Given the description of an element on the screen output the (x, y) to click on. 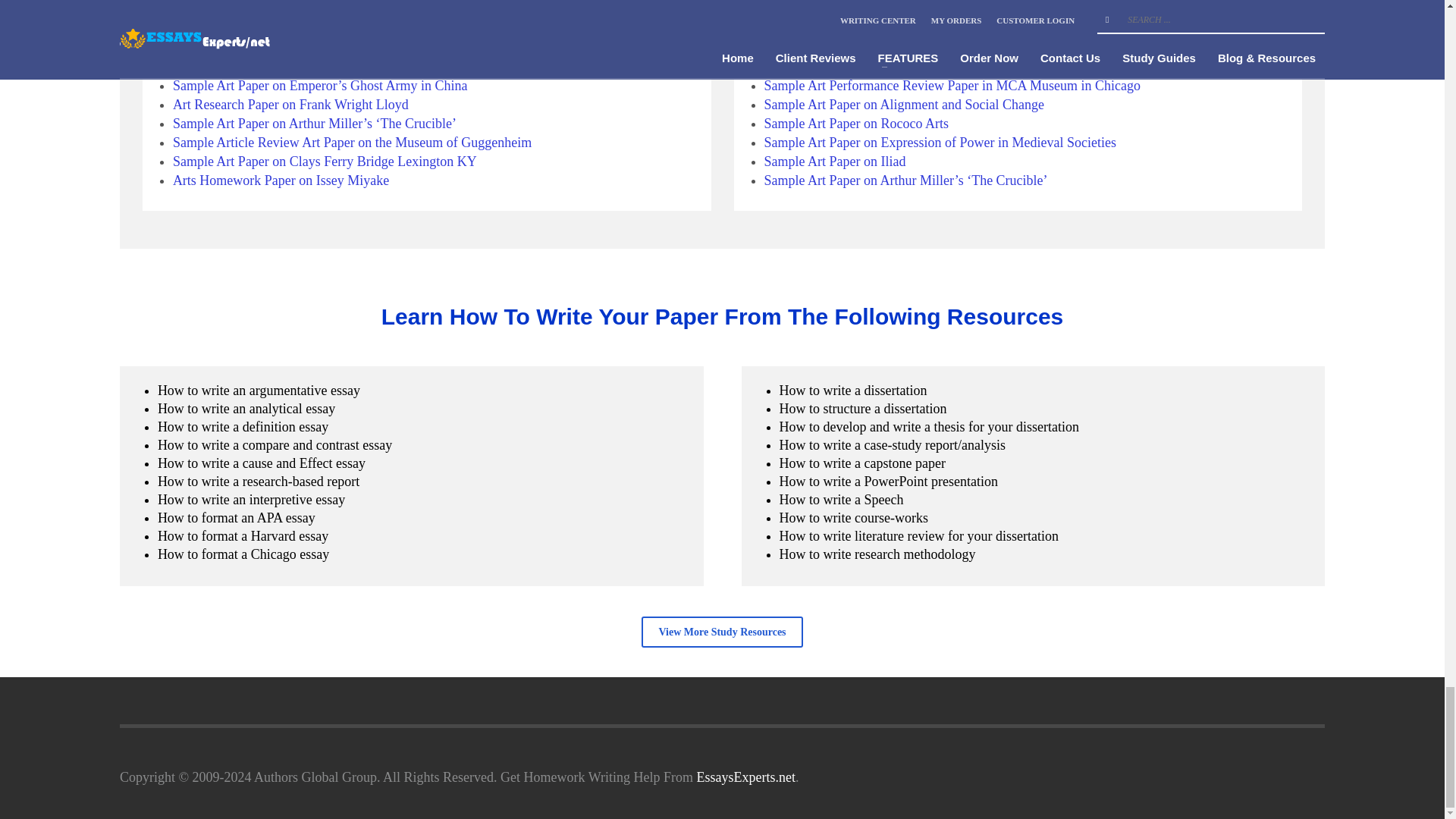
Arts Homework Paper on Issey Miyake (280, 180)
Sample Art Paper on Violence in Media (281, 9)
Art Research Paper on Andy Warhol: Pop Art Icon (310, 47)
Art Research Paper on Frank Wright Lloyd (291, 104)
Sample Article Review Art Paper on the Museum of Guggenheim (352, 142)
Sample Art Paper on Clays Ferry Bridge Lexington KY (325, 160)
